Given the description of an element on the screen output the (x, y) to click on. 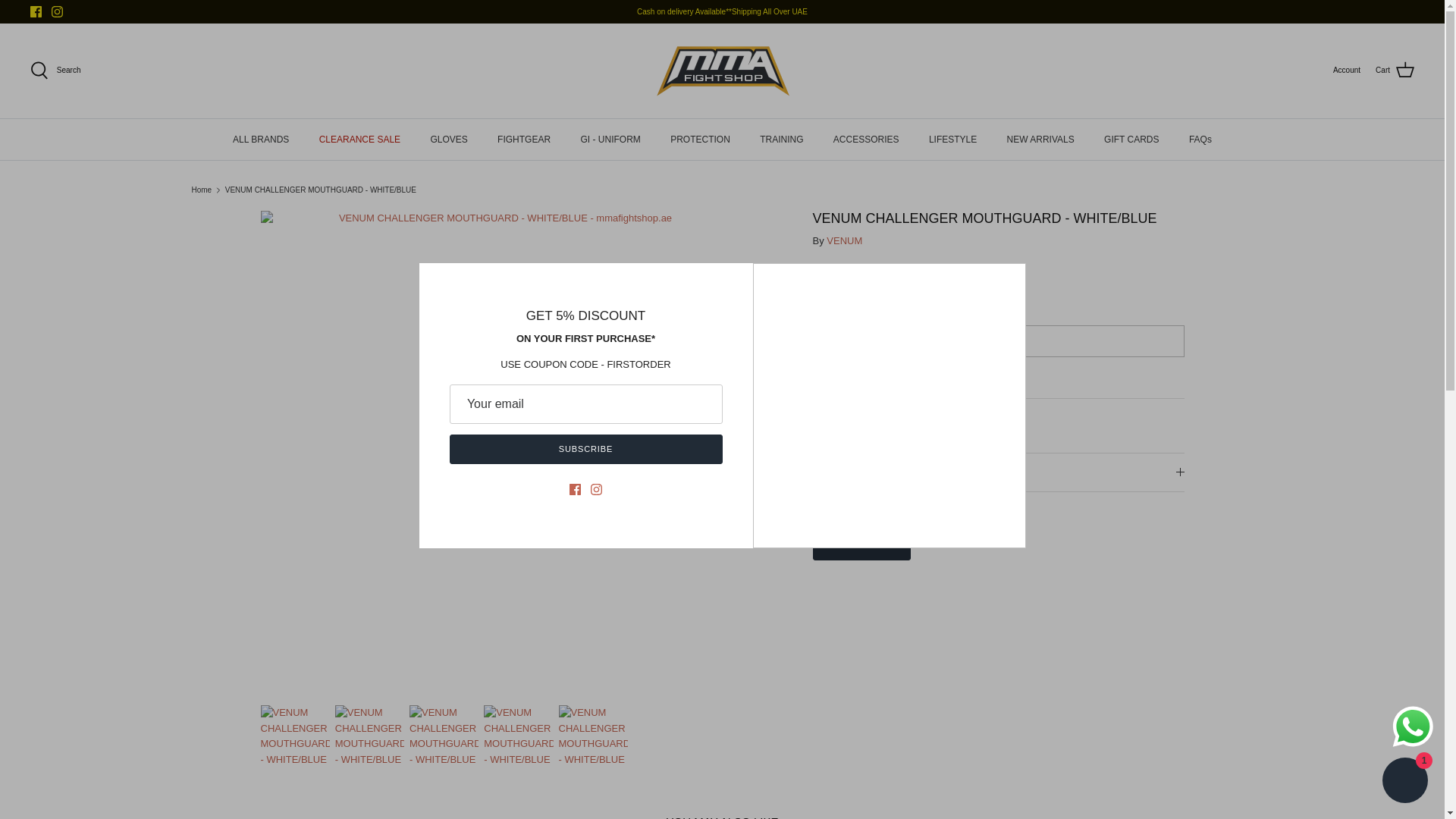
ALL BRANDS (260, 137)
Cart (1394, 70)
Shopify online store chat (1404, 781)
Instagram (56, 11)
RIGHT (721, 449)
Account (1346, 70)
Search (55, 70)
Facebook (36, 11)
mmafightshop.ae (722, 70)
Facebook (36, 11)
Instagram (56, 11)
